Given the description of an element on the screen output the (x, y) to click on. 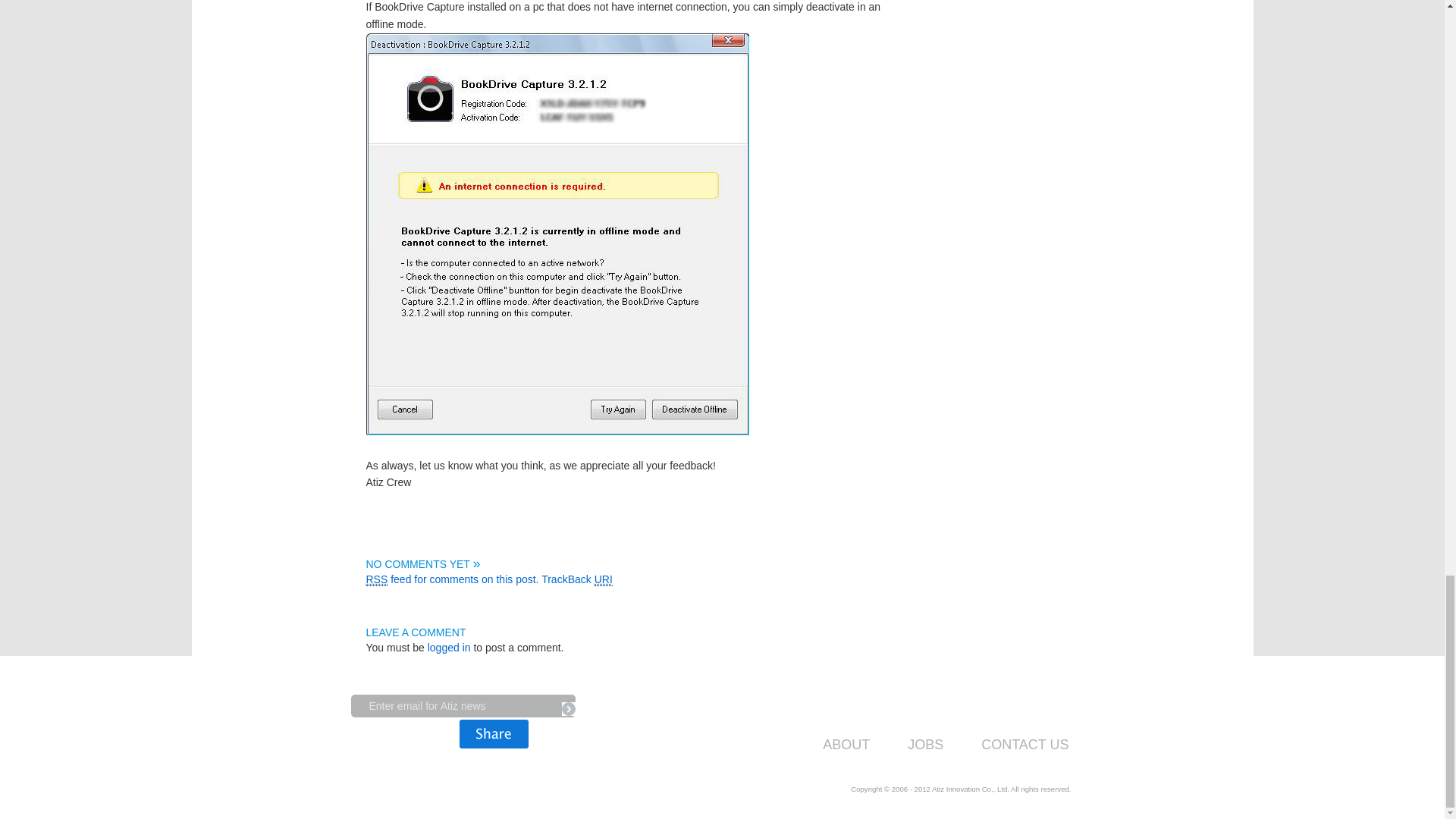
TrackBack URI (576, 579)
logged in (449, 647)
RSS feed for comments on this post. (451, 579)
